Given the description of an element on the screen output the (x, y) to click on. 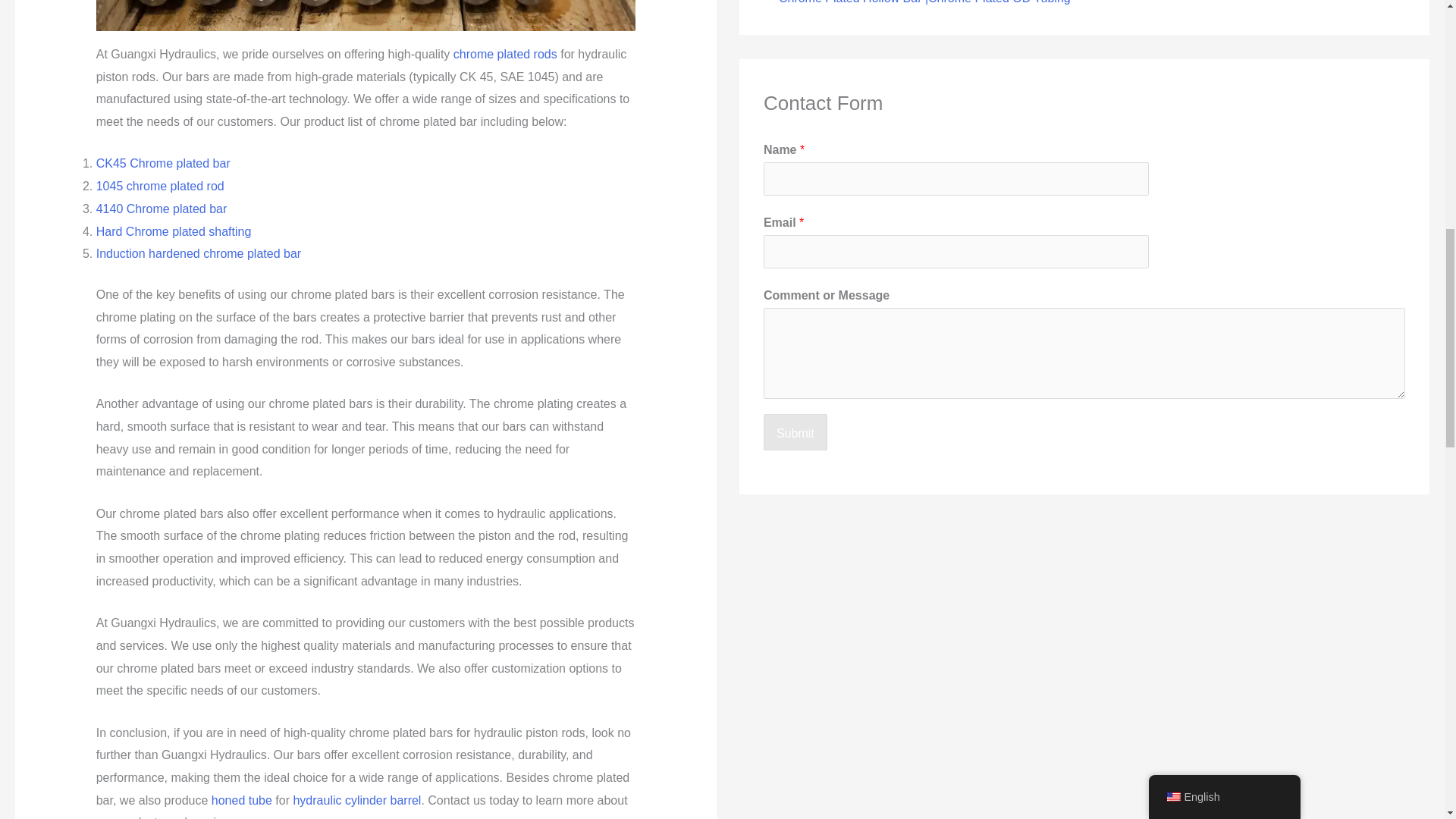
Induction hardened chrome plated bar (198, 253)
honed tube (241, 799)
CK45 Chrome plated bar (163, 163)
chrome plated rods (504, 53)
1045 chrome plated rod (160, 185)
4140 Chrome plated bar (161, 208)
Hard Chrome plated shafting (173, 231)
hydraulic cylinder barrel (356, 799)
